Given the description of an element on the screen output the (x, y) to click on. 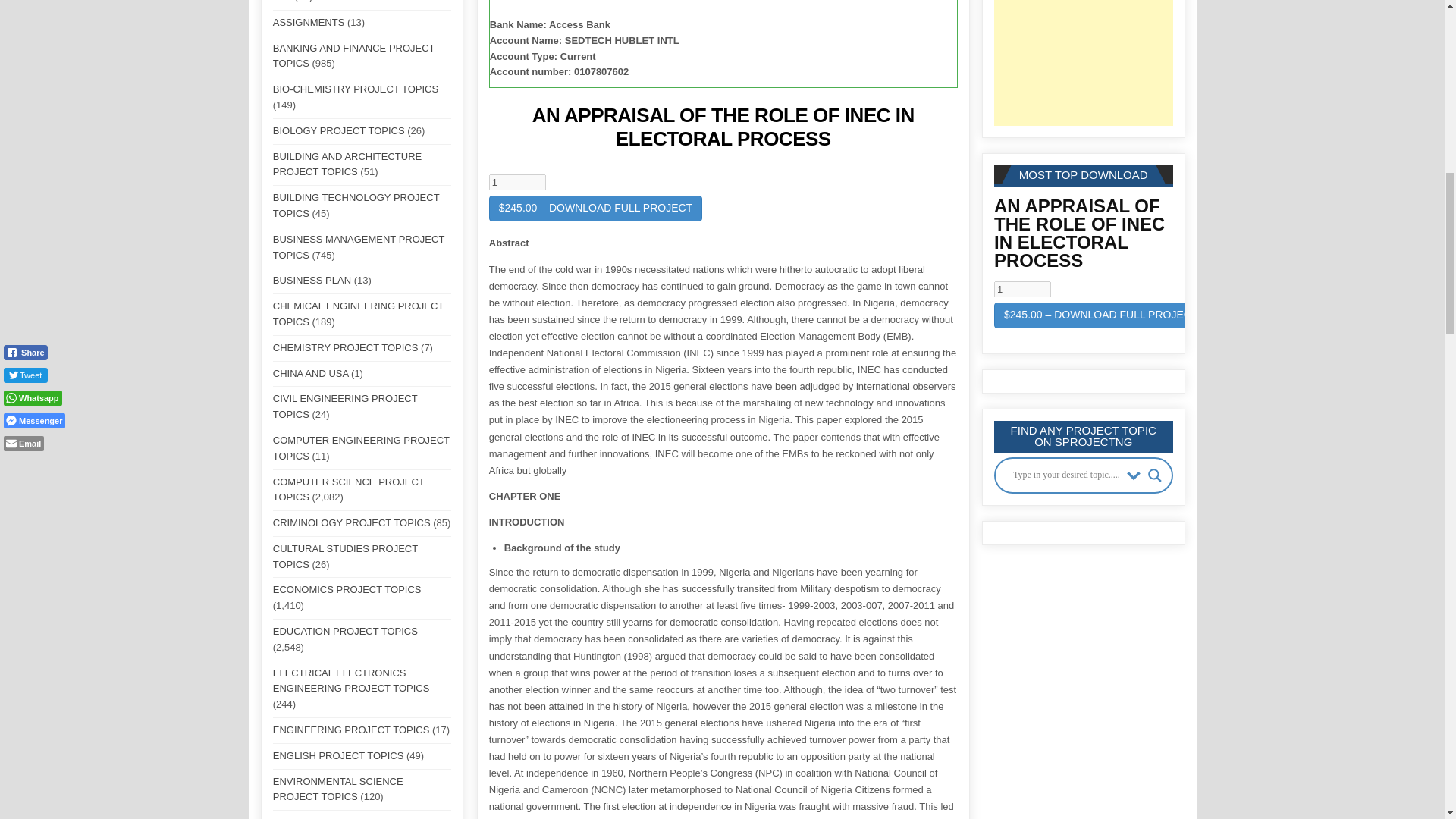
1 (1022, 289)
1 (517, 182)
